Given the description of an element on the screen output the (x, y) to click on. 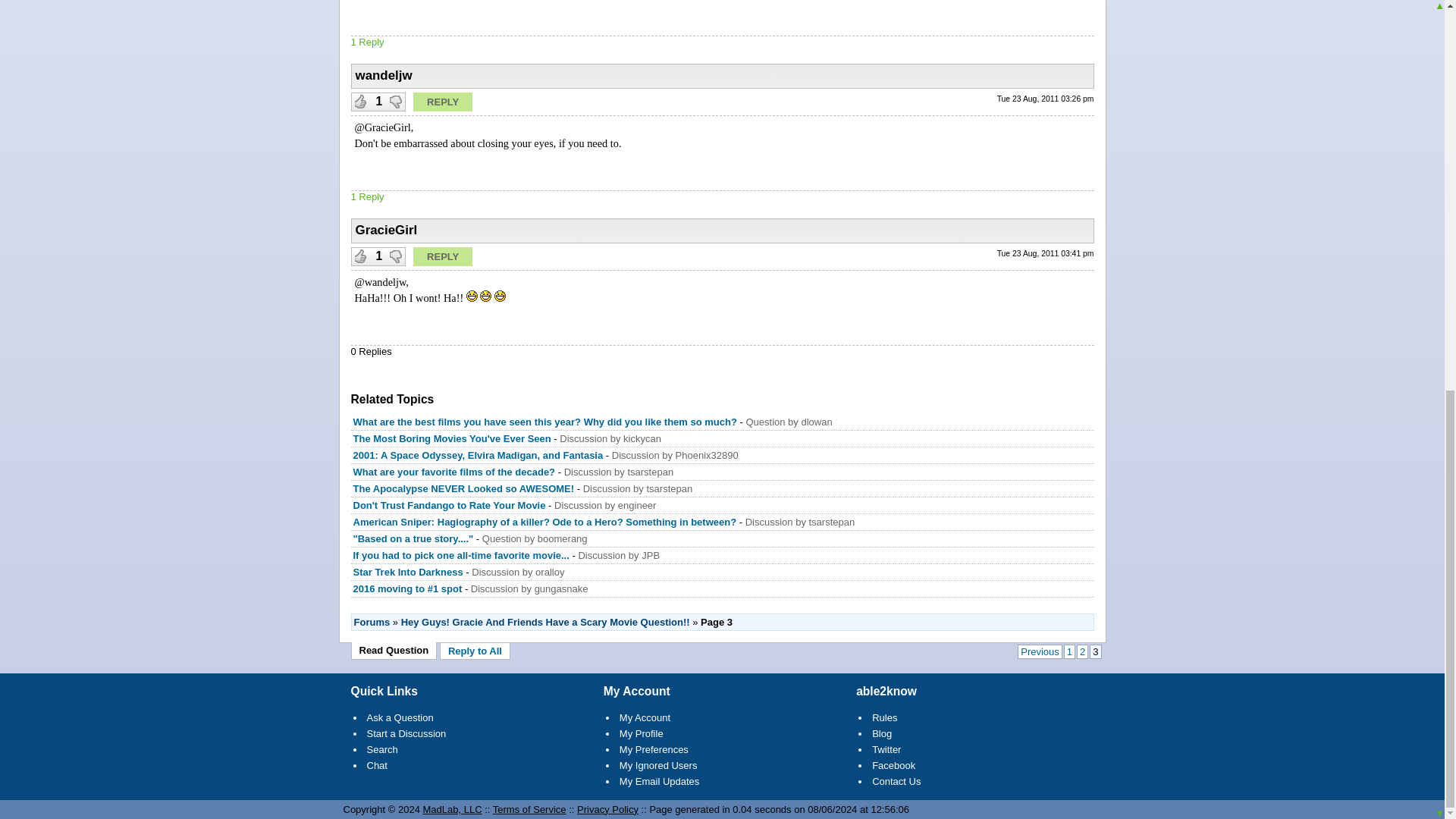
Hey Guys! Gracie And Friends Have a Scary Movie Question!! (545, 622)
Forums (371, 622)
What are your favorite films of the decade? (454, 471)
The Apocalypse NEVER Looked so AWESOME! (464, 488)
Star Trek Into Darkness (408, 572)
If you had to pick one all-time favorite movie... (461, 555)
Don't Trust Fandango to Rate Your Movie (449, 505)
2001: A Space Odyssey, Elvira Madigan, and Fantasia (478, 455)
The Most Boring Movies You've Ever Seen (452, 438)
"Based on a true story...." (413, 538)
